Given the description of an element on the screen output the (x, y) to click on. 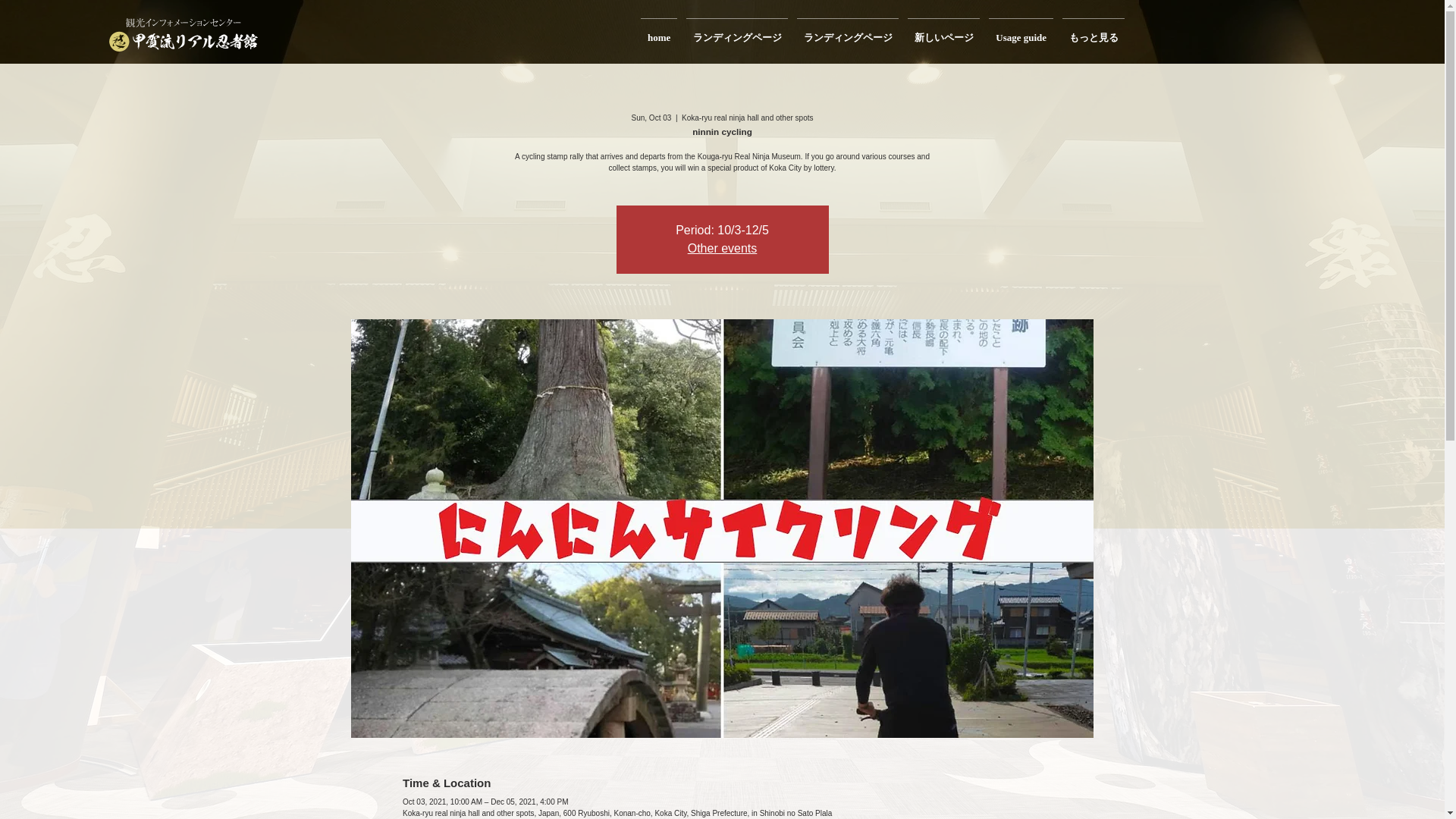
Other events (722, 247)
Usage guide (1021, 31)
home (658, 31)
